Given the description of an element on the screen output the (x, y) to click on. 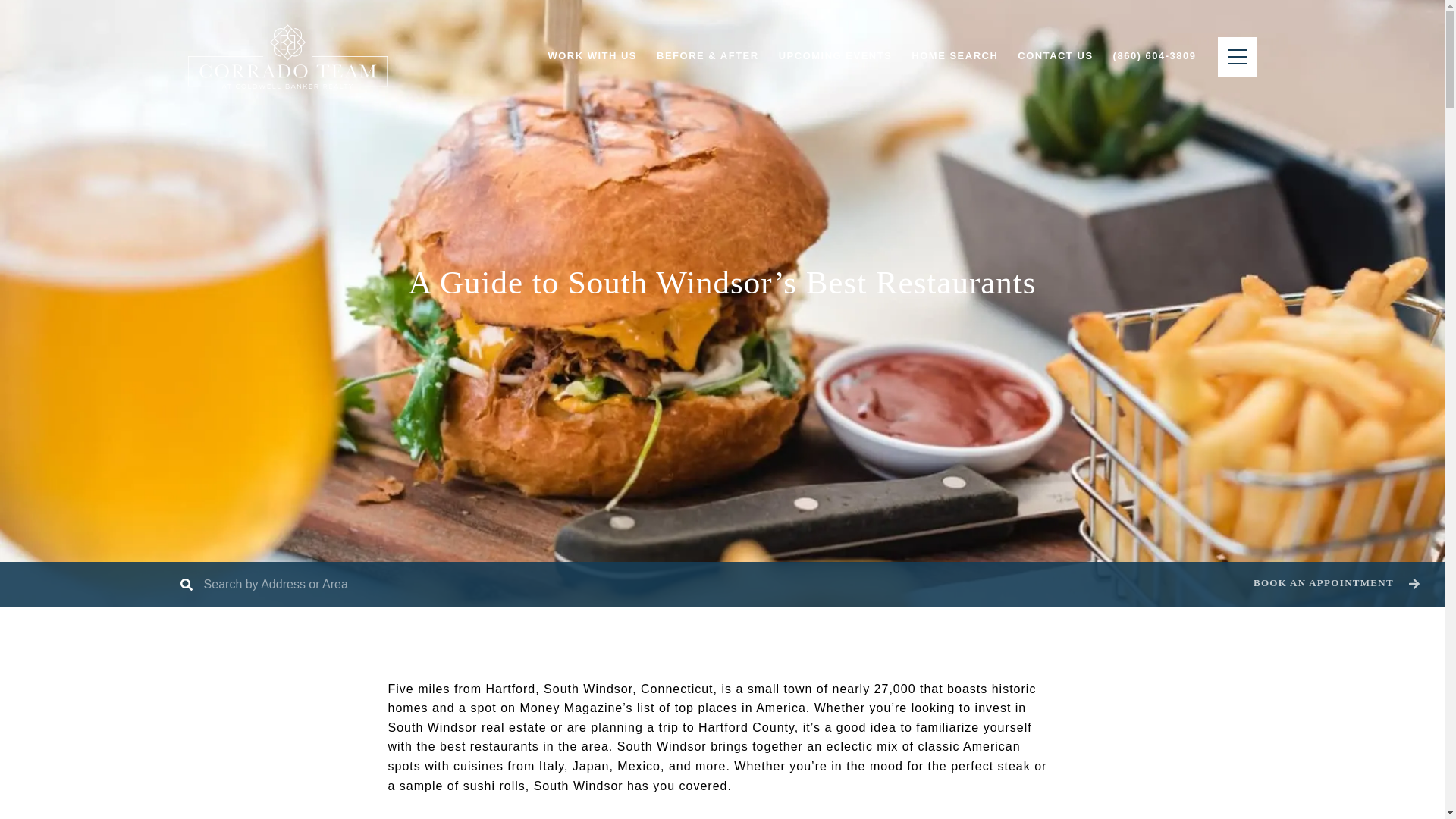
CONTACT US (1054, 55)
UPCOMING EVENTS (835, 55)
HOME SEARCH (954, 55)
WORK WITH US (591, 55)
